Given the description of an element on the screen output the (x, y) to click on. 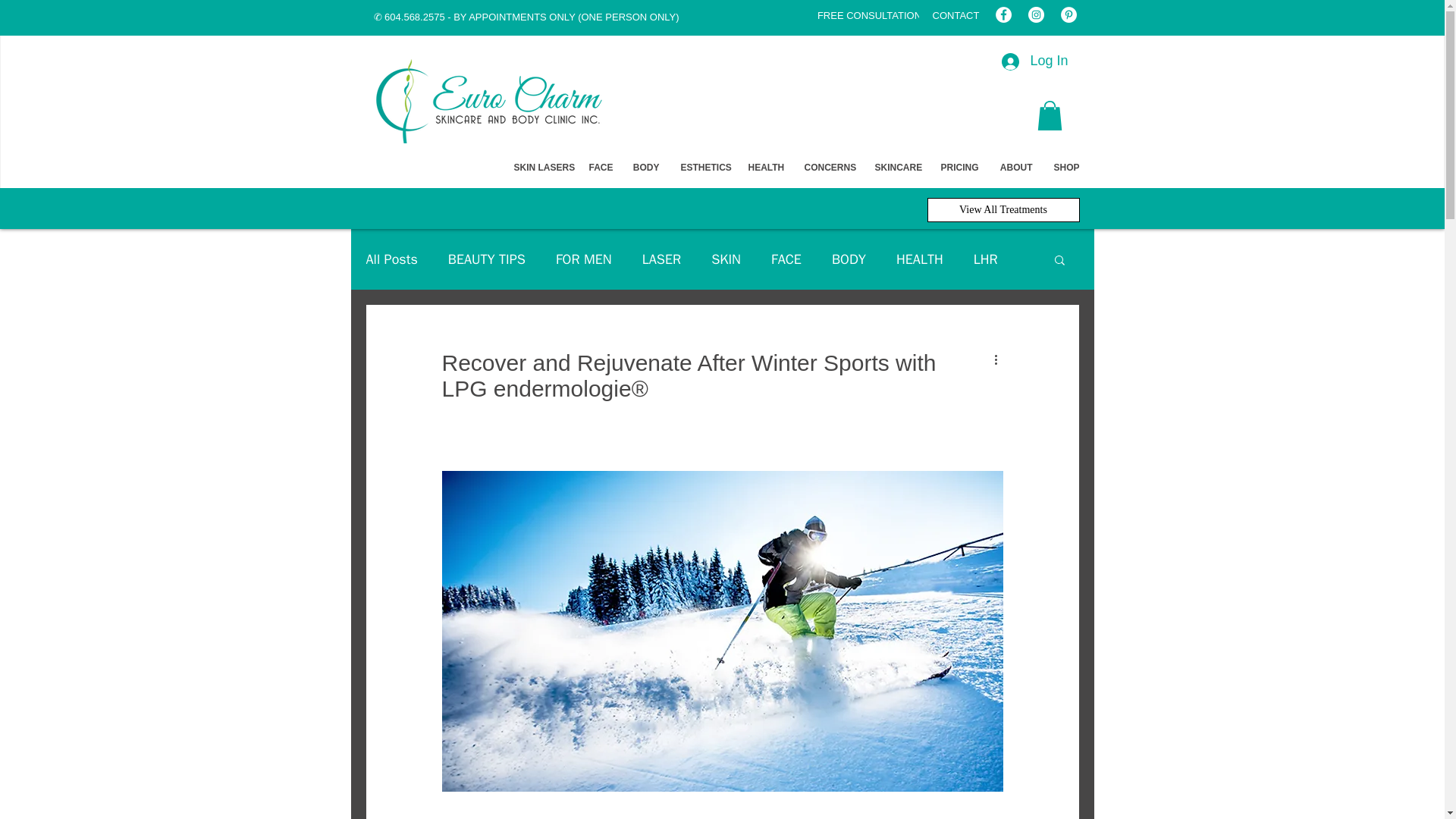
FREE CONSULTATION (869, 15)
Log In (1034, 60)
Euro Charm Clinic Logo  (486, 97)
CONTACT (955, 15)
